Given the description of an element on the screen output the (x, y) to click on. 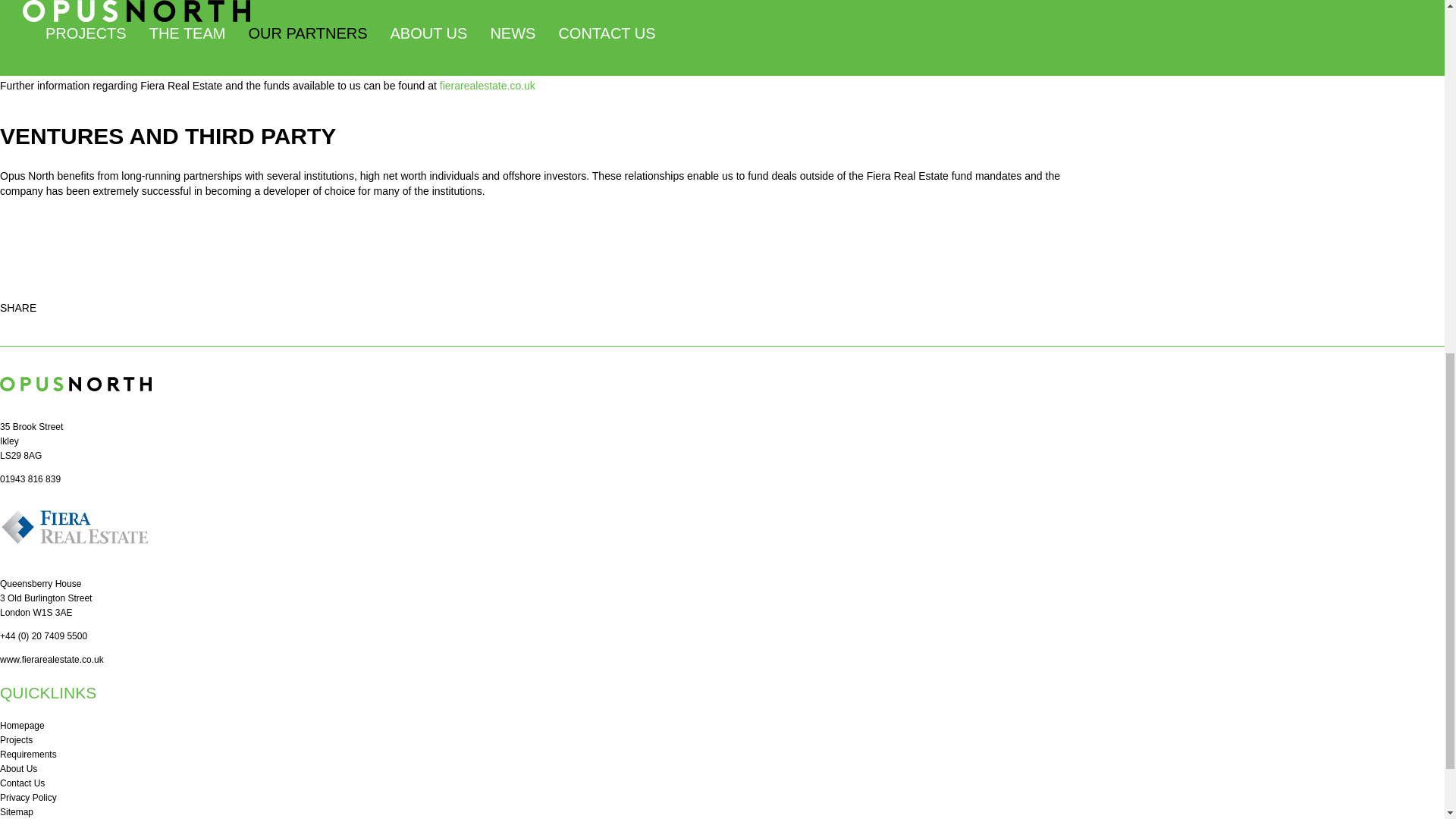
fierarealestate.co.uk (487, 85)
visit website (51, 659)
Sitemap (16, 811)
call us (30, 479)
Contact Us (22, 783)
Homepage (22, 725)
Visit website (75, 560)
call us (43, 635)
visit website (487, 85)
Projects (16, 739)
About Us (18, 768)
www.fierarealestate.co.uk (51, 659)
Privacy Policy (28, 797)
Opus North (75, 403)
01943 816 839 (30, 479)
